Given the description of an element on the screen output the (x, y) to click on. 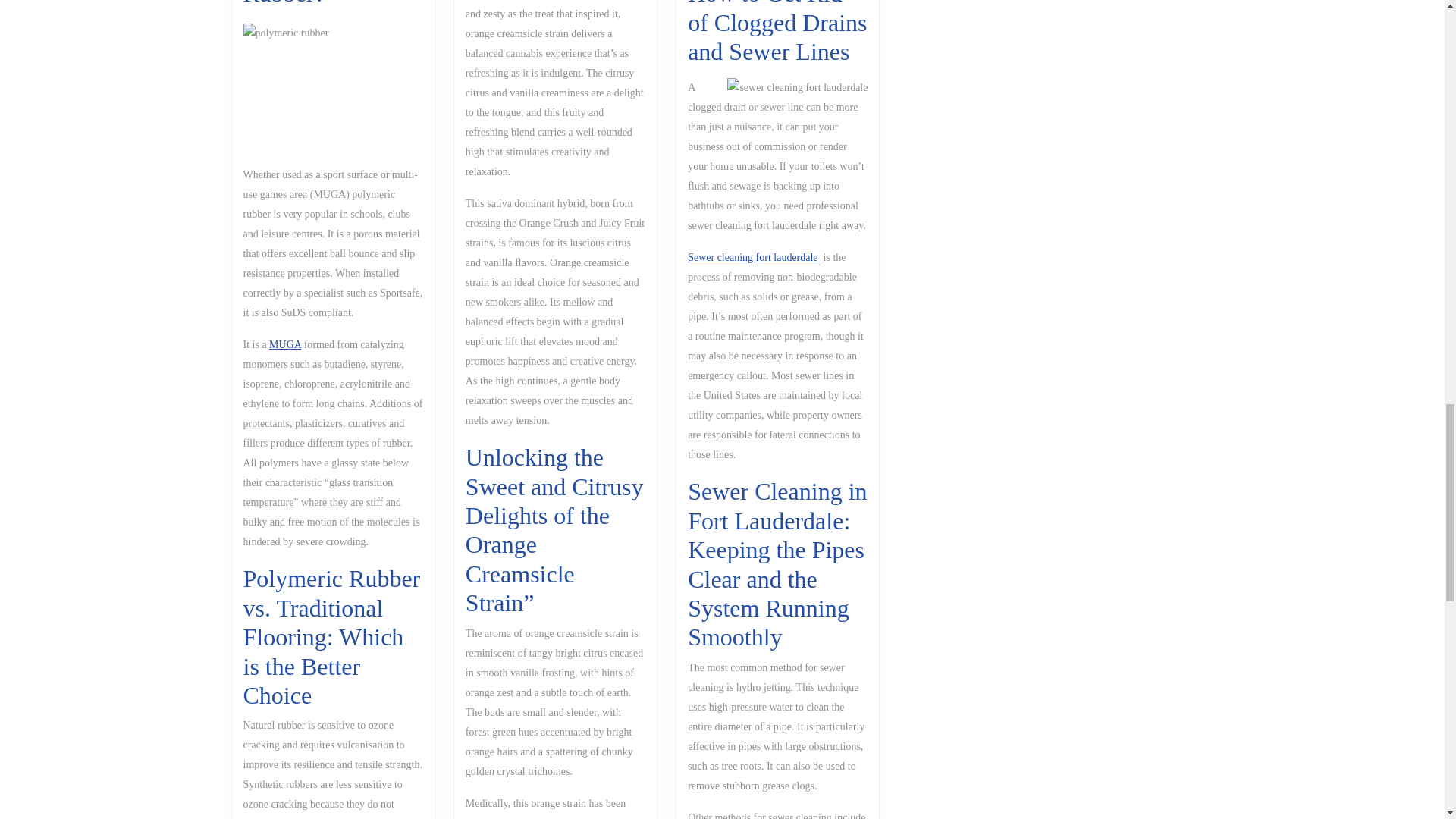
Sewer cleaning fort lauderdale (292, 3)
shown to reduce stress and anxiety while easing pain, (754, 256)
